Given the description of an element on the screen output the (x, y) to click on. 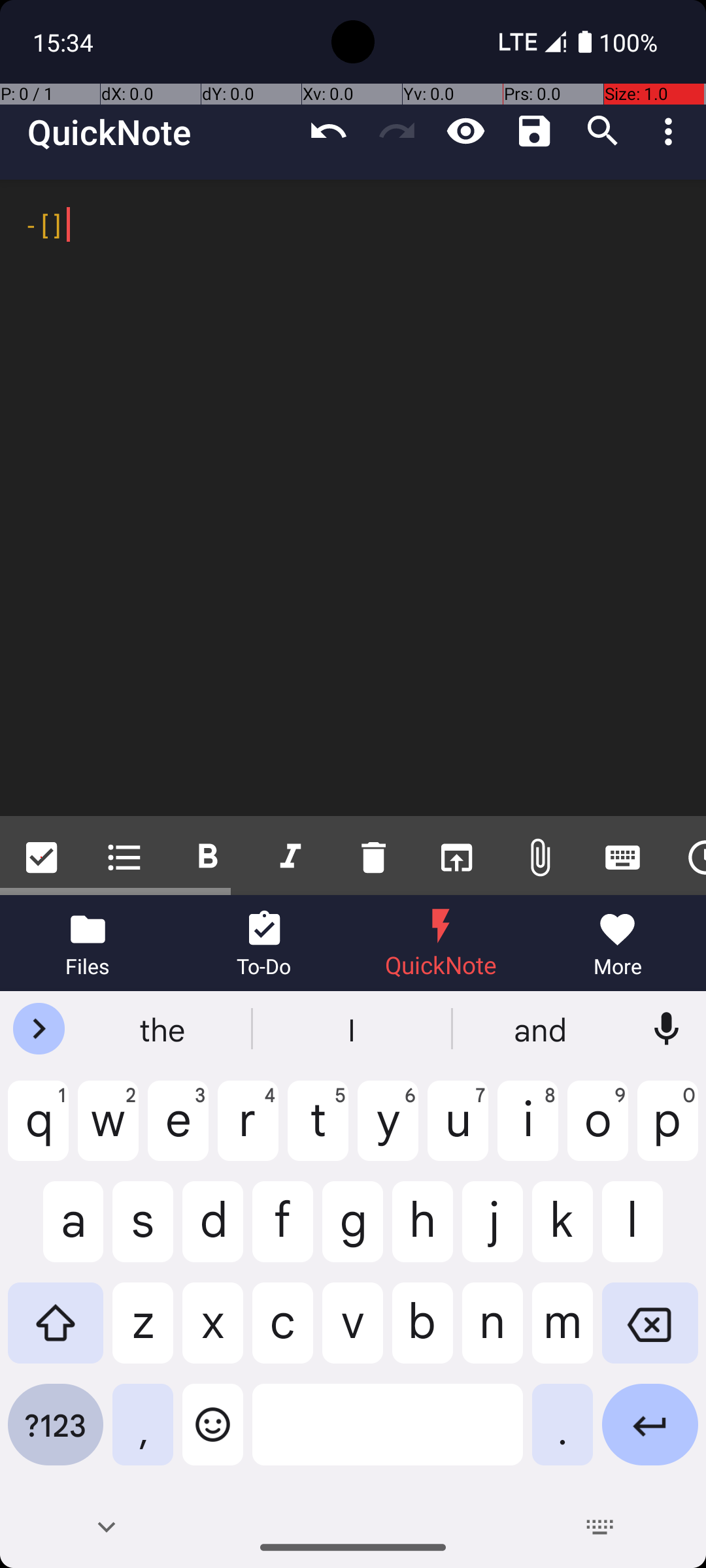
- [ ]  Element type: android.widget.EditText (353, 497)
the Element type: android.widget.FrameLayout (163, 1028)
and Element type: android.widget.FrameLayout (541, 1028)
